Given the description of an element on the screen output the (x, y) to click on. 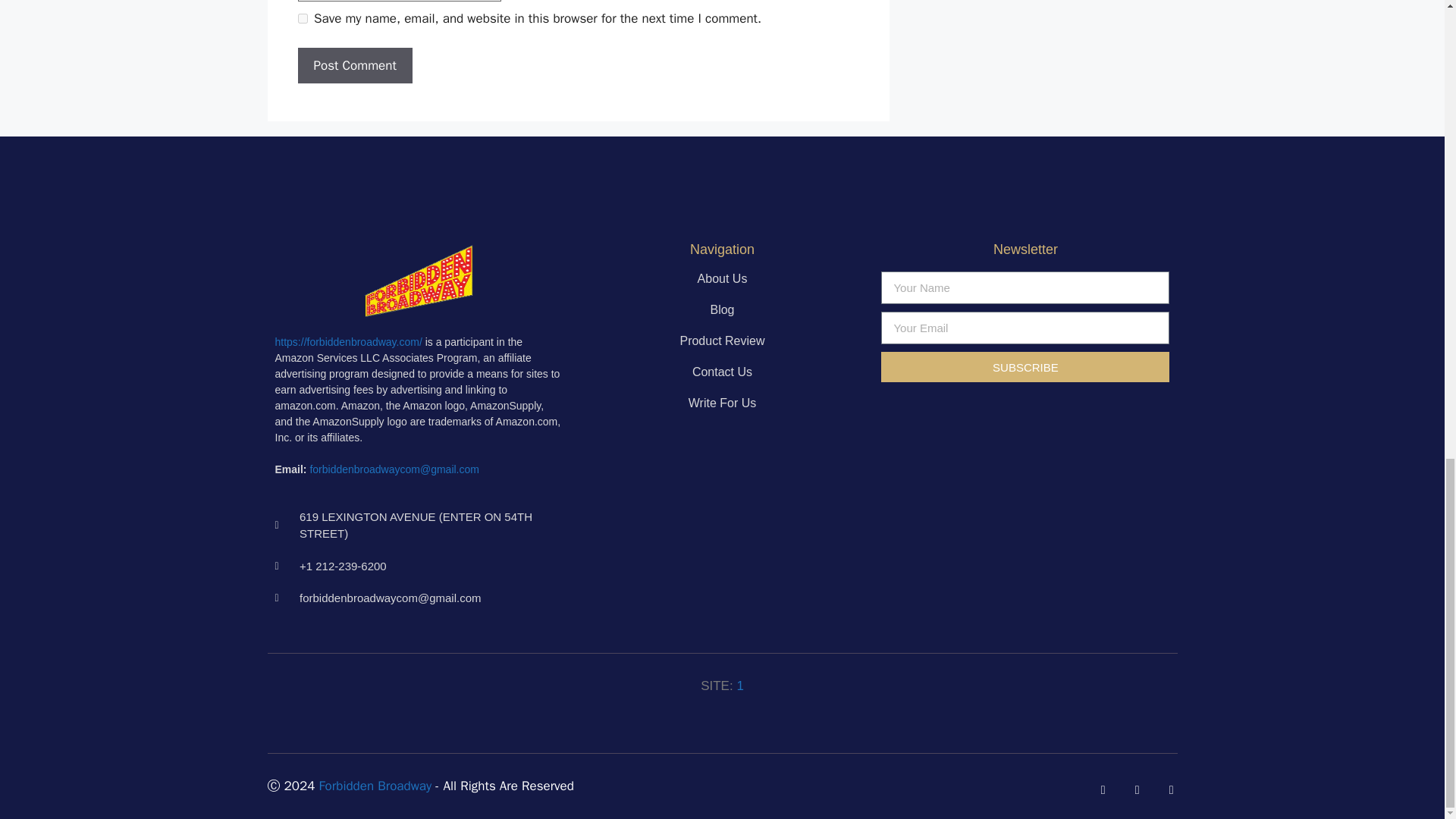
Scroll back to top (1406, 490)
yes (302, 18)
Post Comment (354, 65)
